Given the description of an element on the screen output the (x, y) to click on. 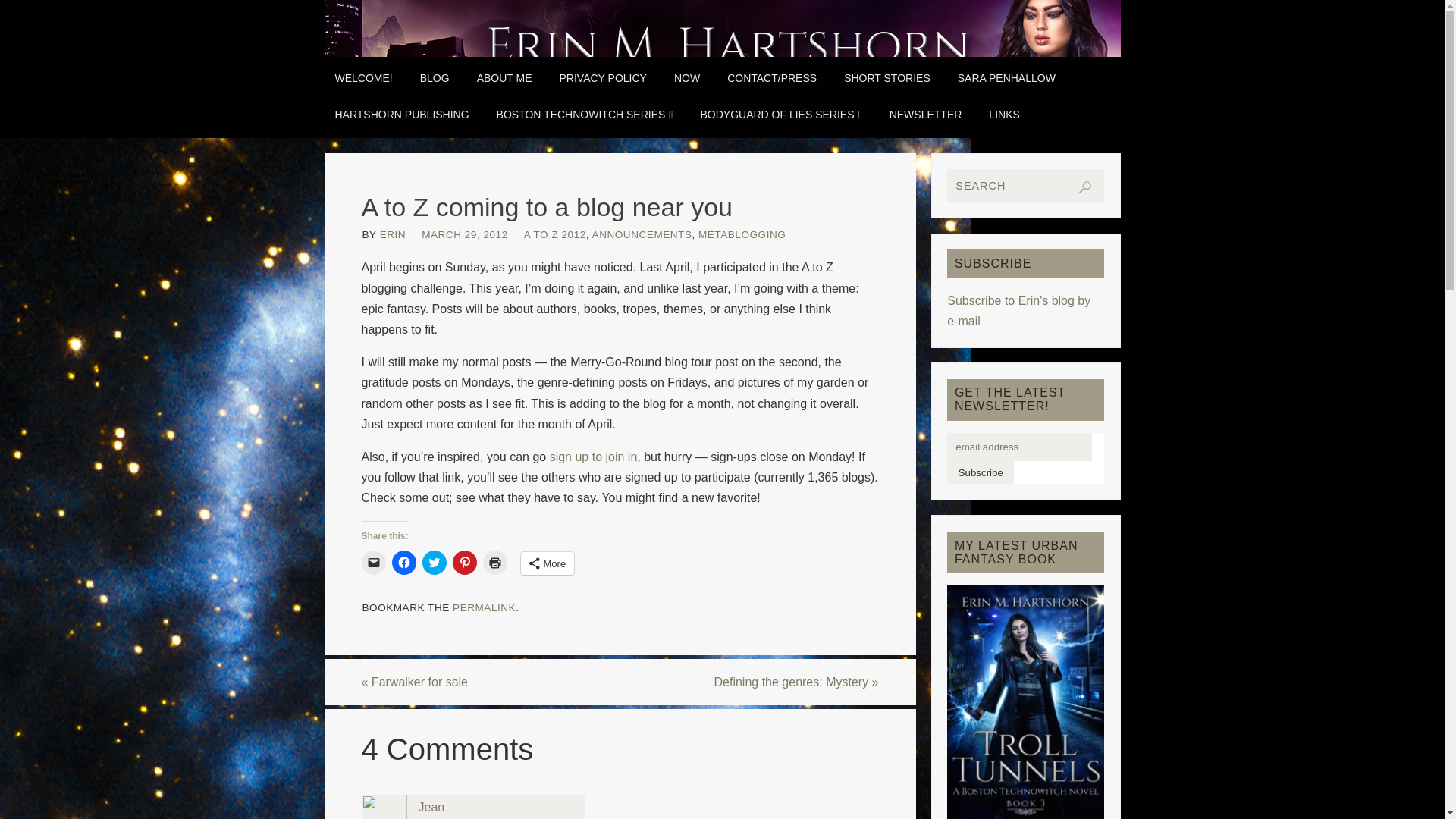
WELCOME! (363, 78)
ABOUT ME (504, 78)
ANNOUNCEMENTS (642, 234)
Jean (432, 807)
Permalink to A to Z coming to a blog near you (483, 607)
View all posts by Erin (393, 234)
LINKS (1003, 114)
BODYGUARD OF LIES SERIES (780, 114)
NEWSLETTER (925, 114)
Click to email a link to a friend (373, 562)
